Given the description of an element on the screen output the (x, y) to click on. 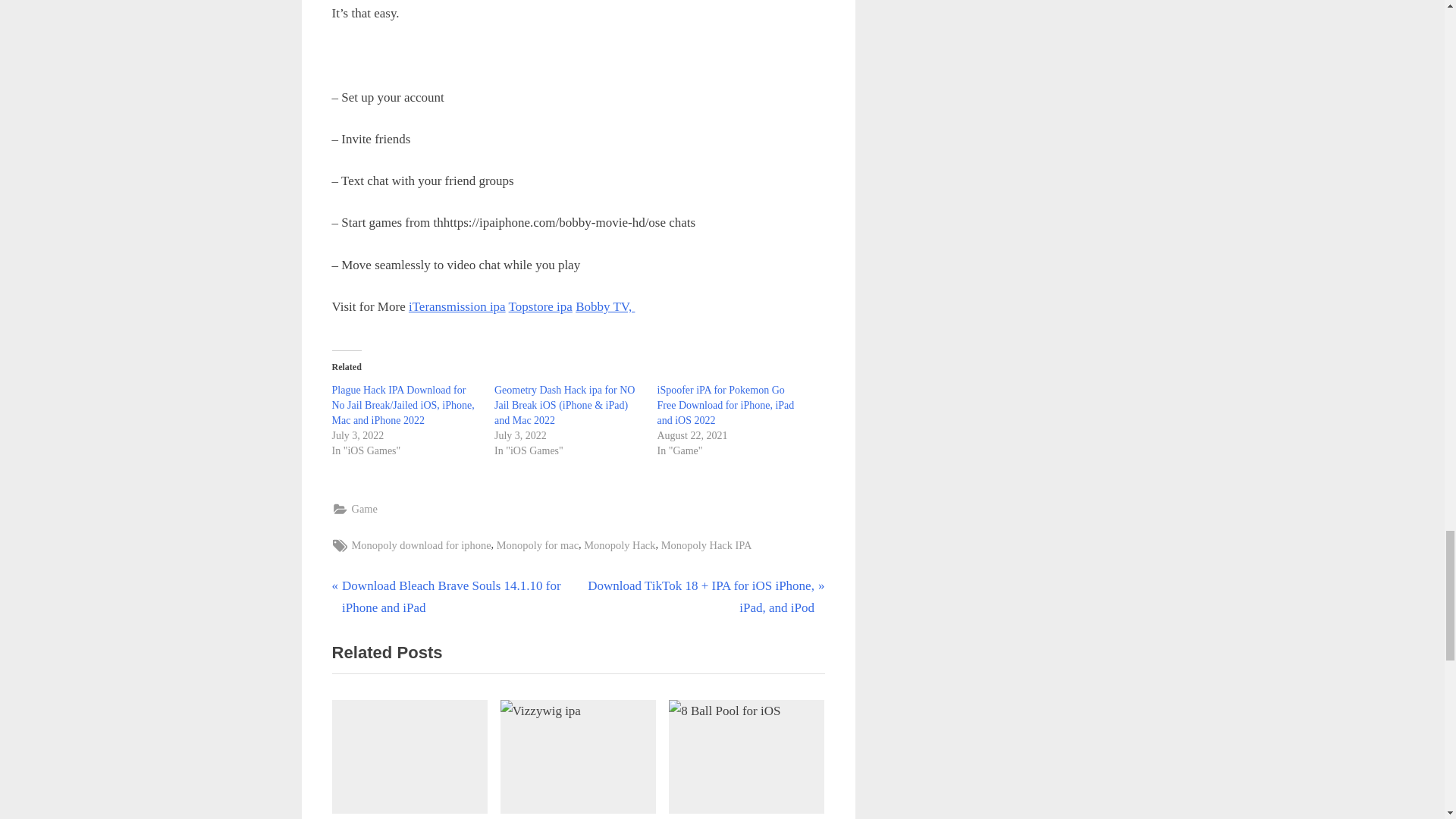
Cooking Crush Game Download for iPhone and iPad 2022 iOS (409, 759)
Monopoly Hack (619, 545)
Vizzywing ipa 10.1 Free for iPhone and iPad (578, 759)
Monopoly Hack IPA (706, 545)
Game (364, 508)
Bobby TV,  (604, 306)
Monopoly for mac (537, 545)
Monopoly download for iphone (422, 545)
Topstore ipa (540, 306)
iTeransmission ipa (457, 306)
